Given the description of an element on the screen output the (x, y) to click on. 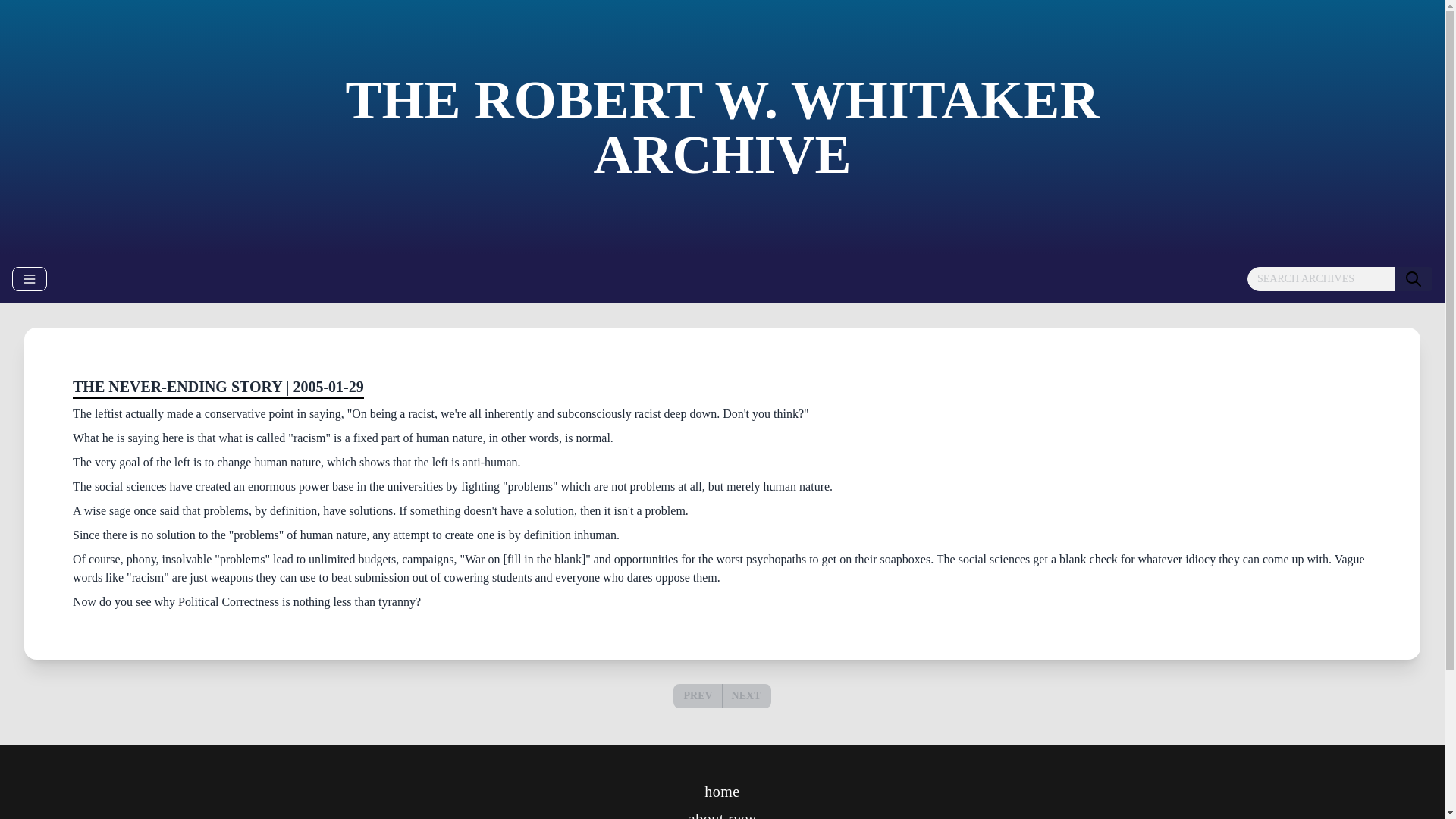
PREV (697, 695)
THE ROBERT W. WHITAKER ARCHIVE (721, 126)
home (721, 791)
PREV (696, 695)
about rww (721, 814)
NEXT (746, 695)
NEXT (746, 695)
